Given the description of an element on the screen output the (x, y) to click on. 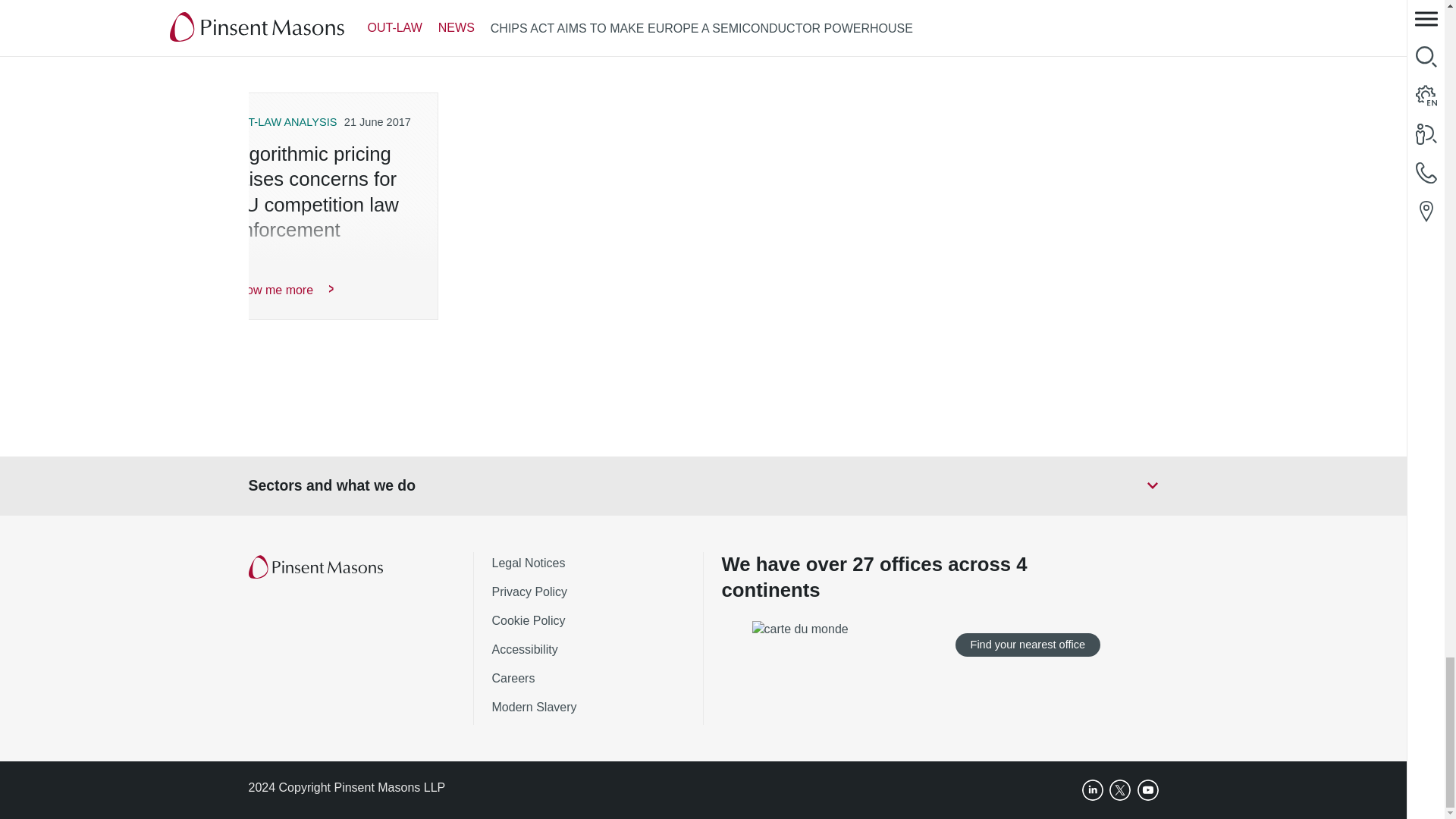
Pinsent Masons (316, 567)
Pinsent Masons LinkedIn (1092, 789)
Pinsent Masons Twitter (1120, 789)
